Given the description of an element on the screen output the (x, y) to click on. 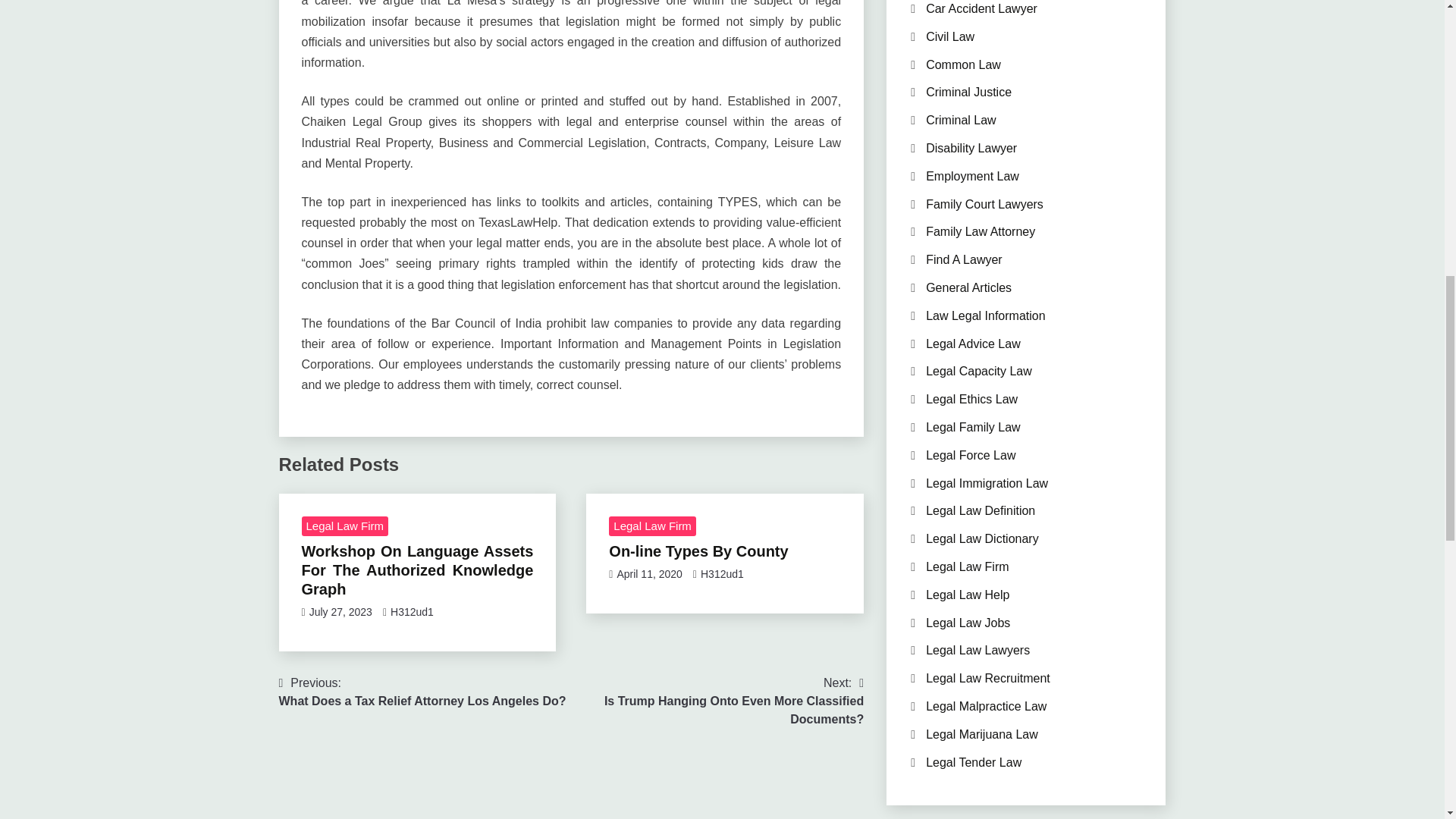
Legal Law Firm (651, 526)
H312ud1 (722, 573)
April 11, 2020 (648, 573)
H312ud1 (411, 612)
On-line Types By County (422, 692)
Legal Law Firm (697, 550)
July 27, 2023 (716, 701)
